Given the description of an element on the screen output the (x, y) to click on. 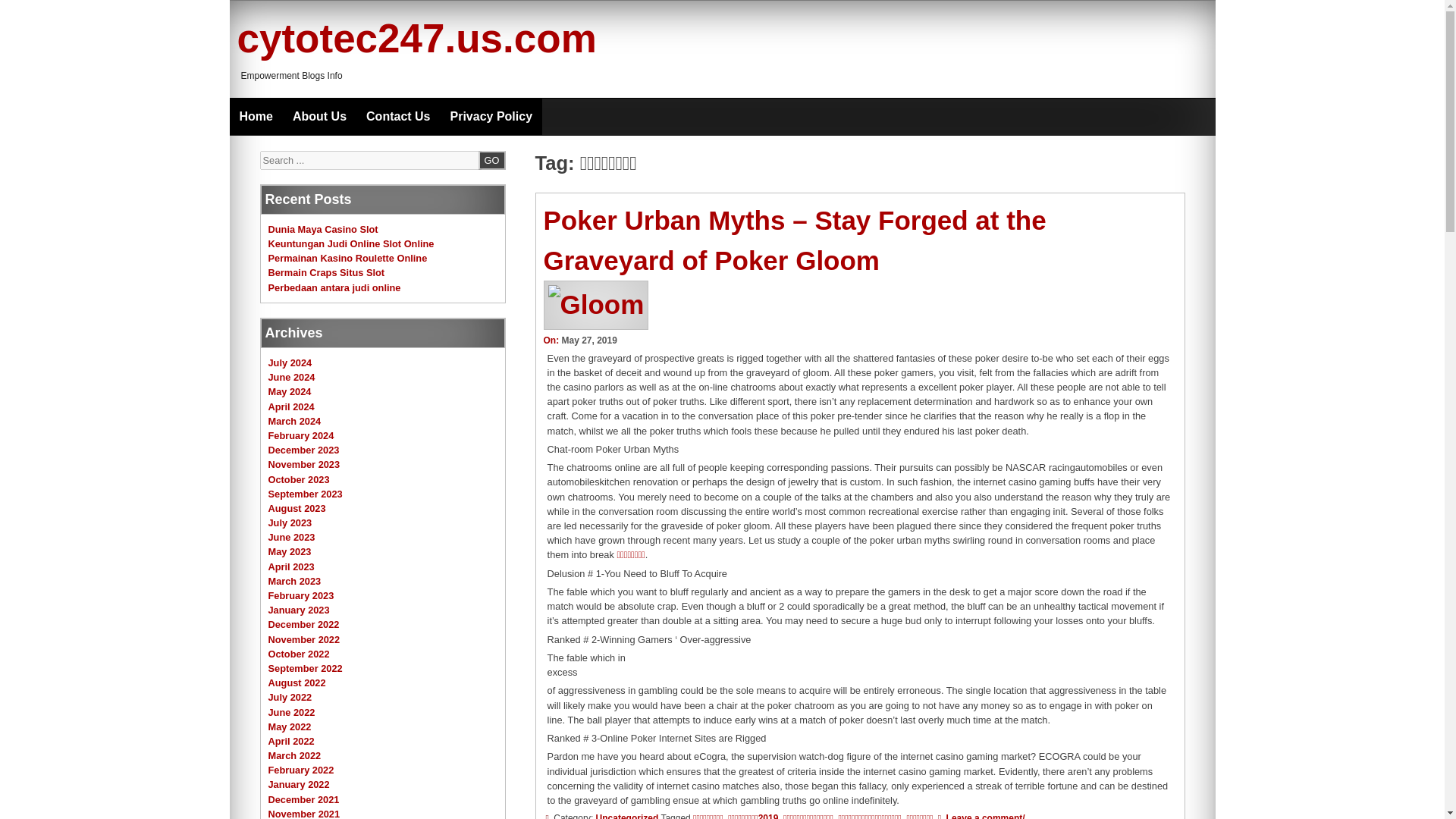
May 27, 2019 (587, 339)
cytotec247.us.com (415, 37)
About Us (319, 116)
March 2024 (294, 420)
Home (255, 116)
November 2023 (303, 464)
Dunia Maya Casino Slot (322, 229)
August 2023 (296, 508)
March 2023 (294, 581)
September 2023 (304, 493)
May 2024 (289, 391)
June 2023 (291, 536)
GO (492, 158)
October 2023 (298, 478)
May 2023 (289, 551)
